Given the description of an element on the screen output the (x, y) to click on. 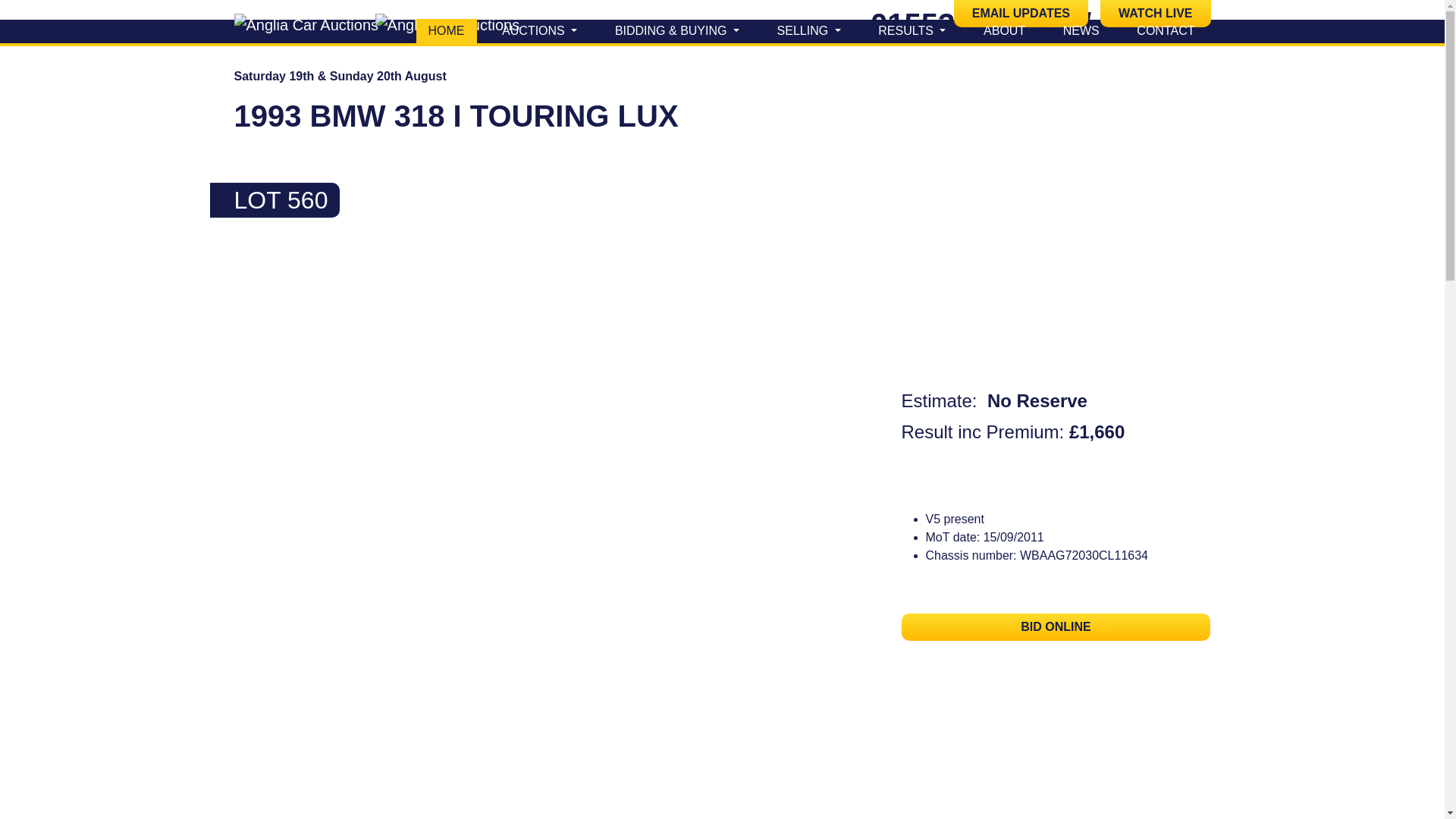
SELLING (809, 30)
01553 777444 (967, 23)
WATCH LIVE (1154, 13)
01553 777444 (967, 23)
Auctions (539, 30)
771881 (1159, 23)
AUCTIONS (539, 30)
Results (912, 30)
Get email updates (1020, 13)
HOME (445, 30)
